Given the description of an element on the screen output the (x, y) to click on. 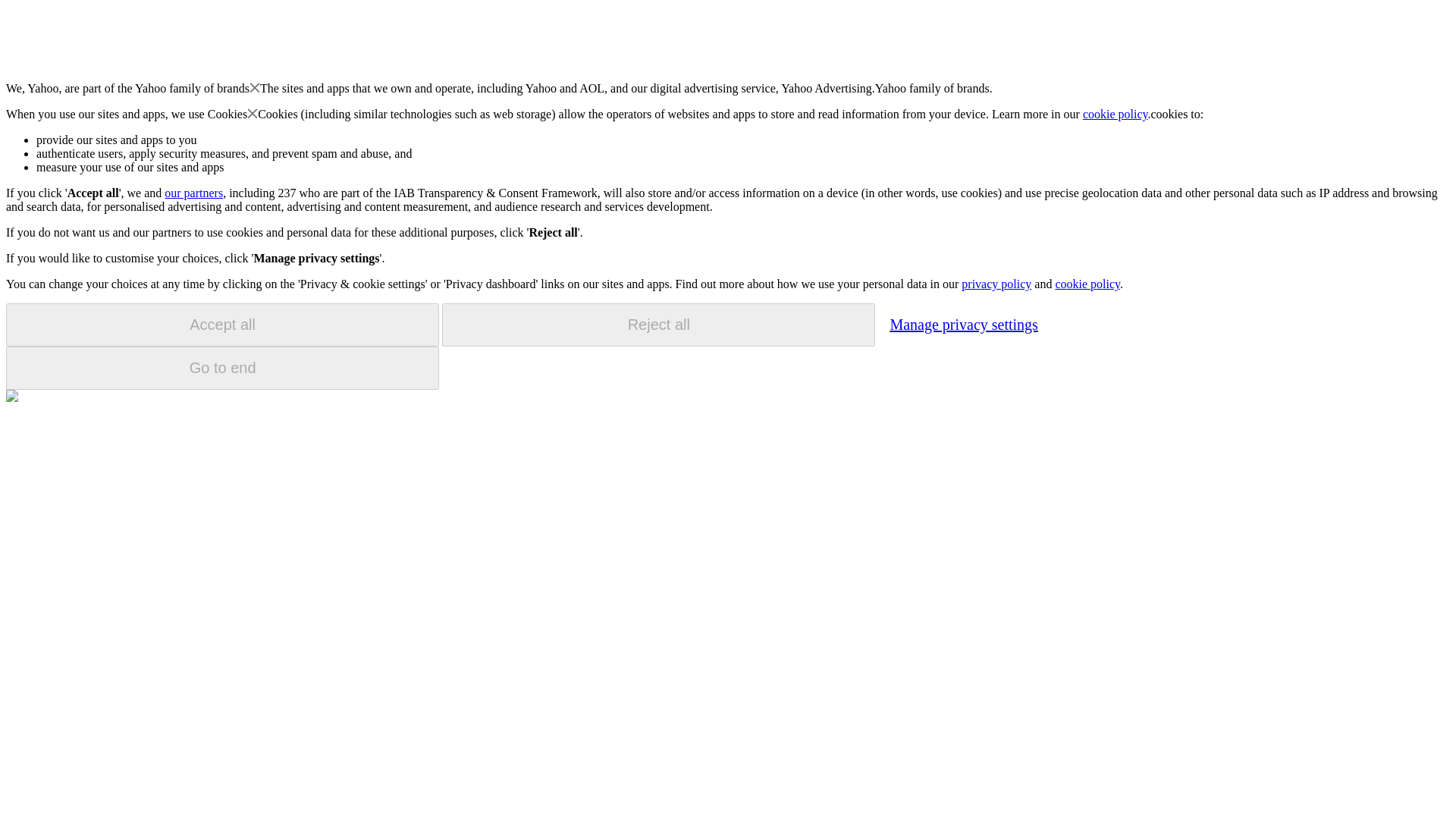
Manage privacy settings (963, 323)
Accept all (222, 324)
our partners (193, 192)
cookie policy (1086, 283)
Go to end (222, 367)
cookie policy (1115, 113)
privacy policy (995, 283)
Reject all (658, 324)
